Given the description of an element on the screen output the (x, y) to click on. 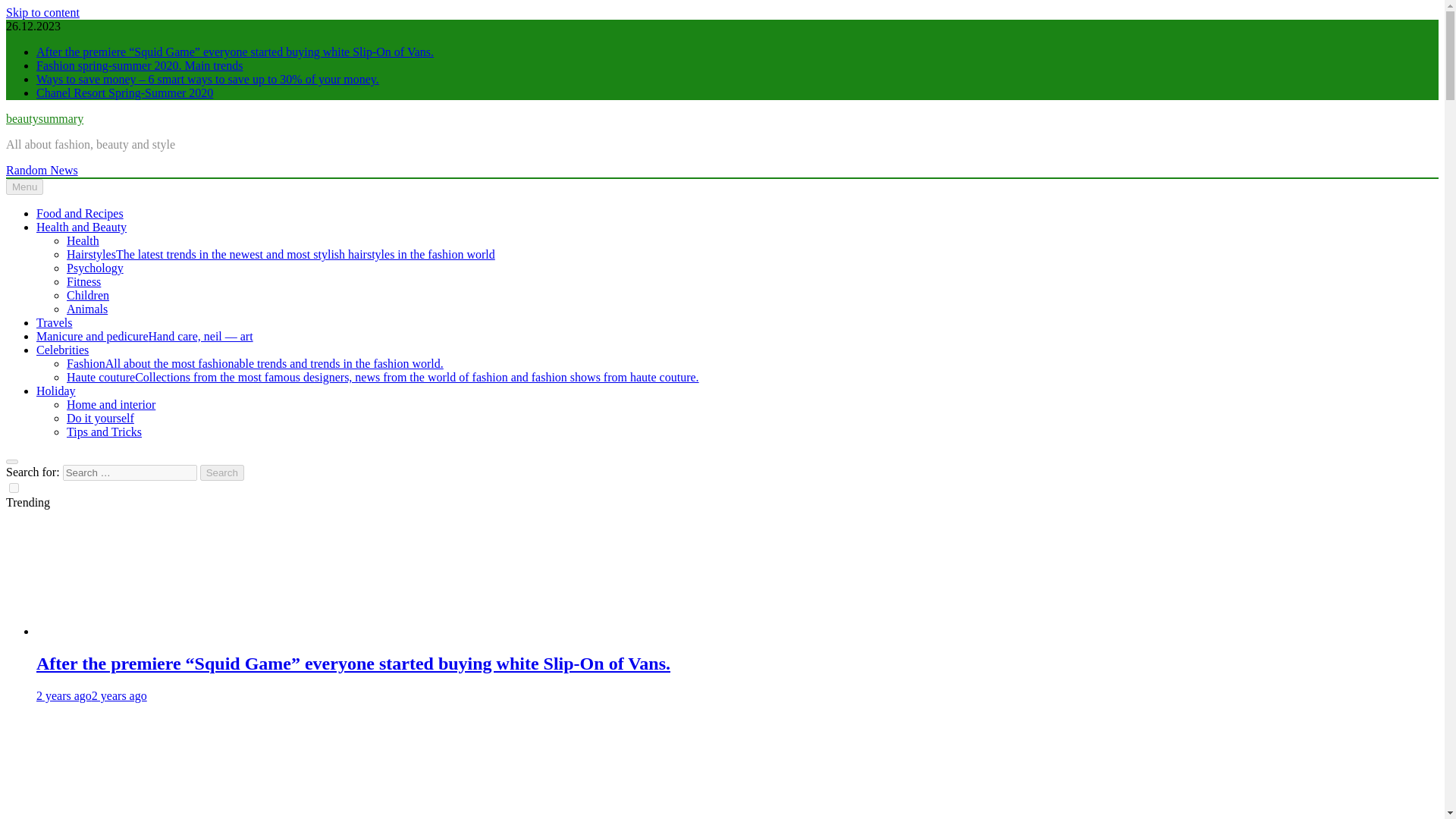
beautysummary (43, 118)
Search (222, 472)
Do it yourself (99, 418)
Psychology (94, 267)
Food and Recipes (79, 213)
Menu (24, 186)
Holiday (55, 390)
Search (222, 472)
Random News (41, 169)
